Given the description of an element on the screen output the (x, y) to click on. 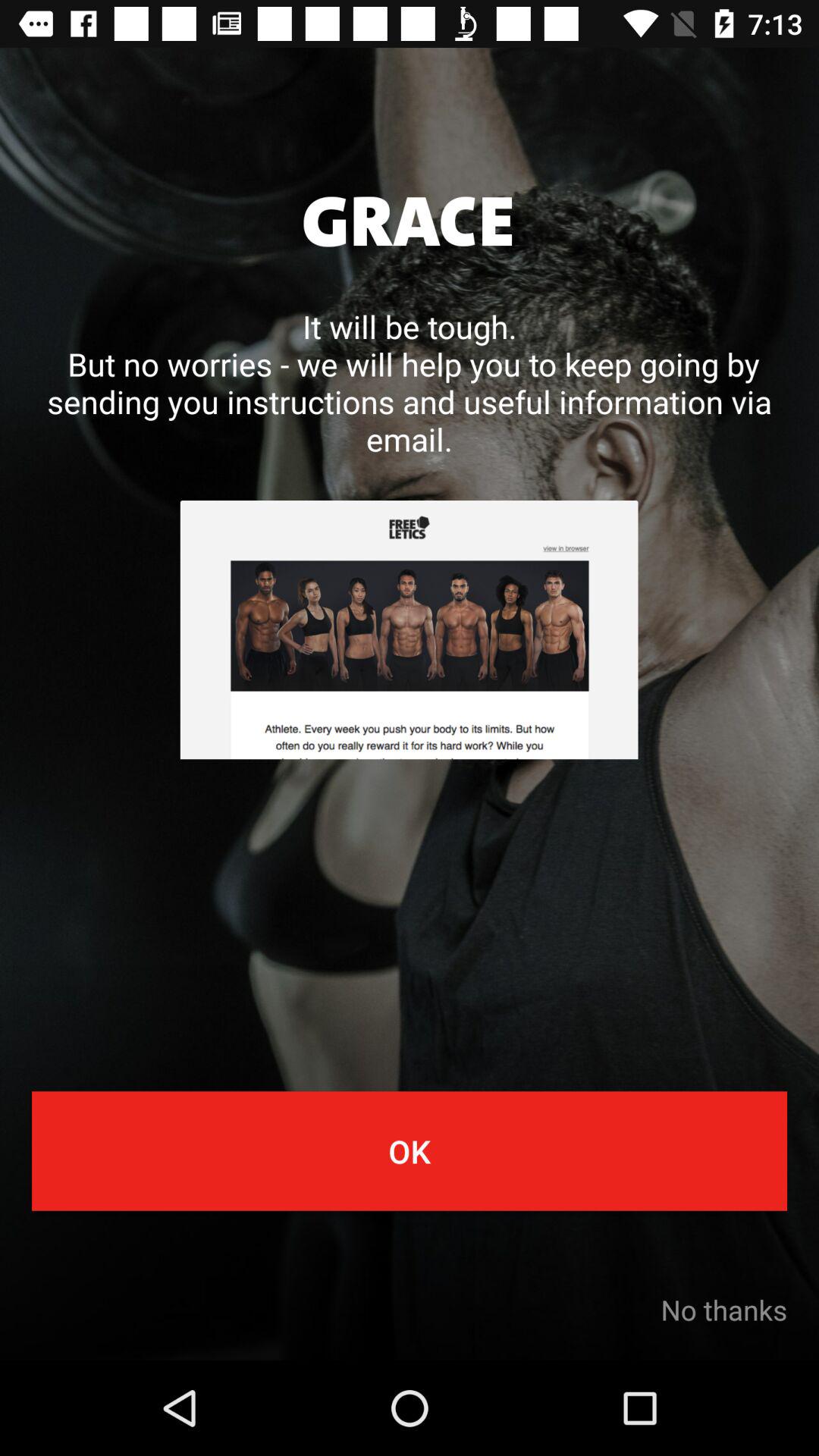
open no thanks item (723, 1309)
